Given the description of an element on the screen output the (x, y) to click on. 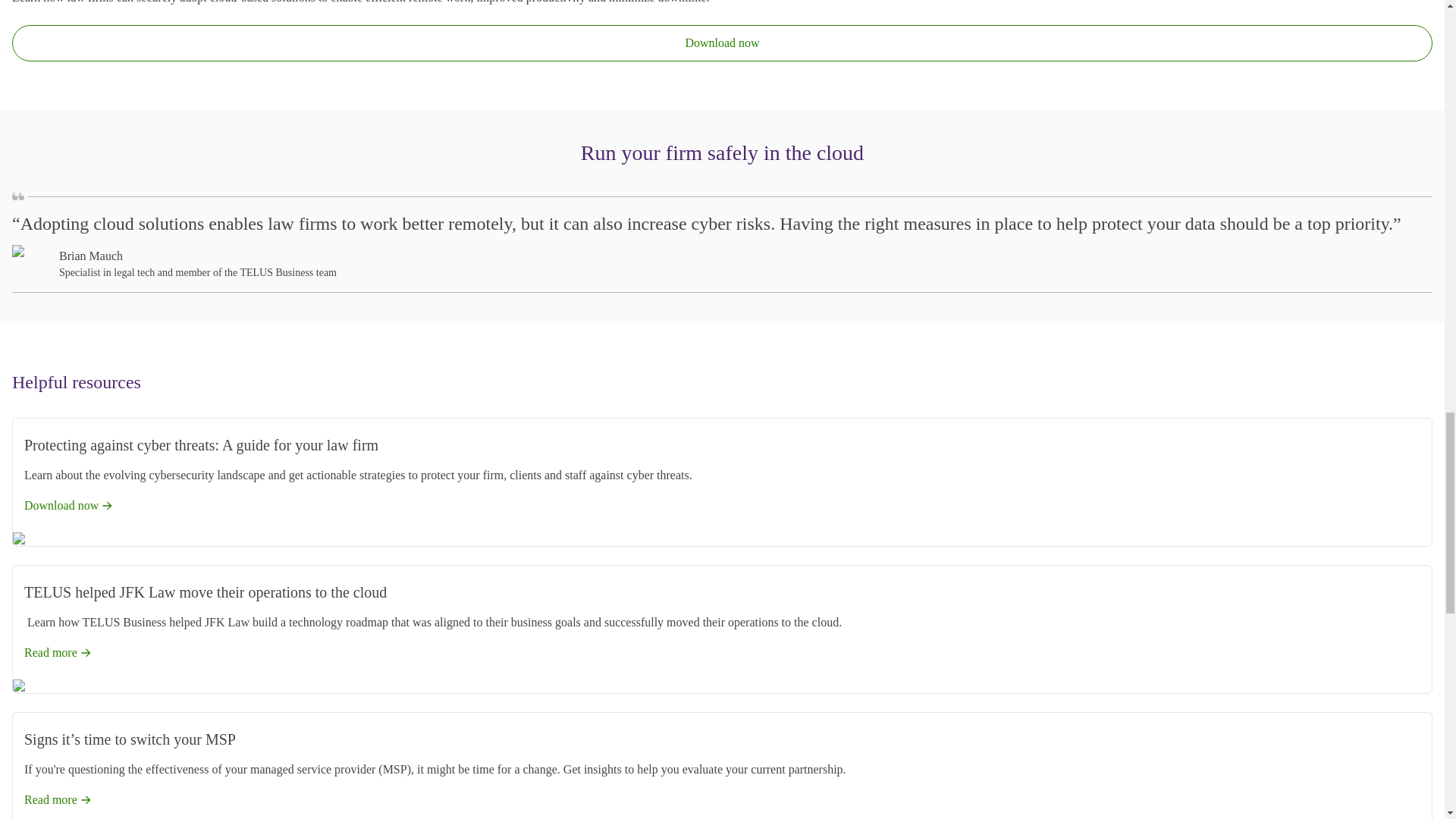
Download now (68, 505)
Download now (721, 43)
Read more (58, 799)
Read more (58, 652)
